Given the description of an element on the screen output the (x, y) to click on. 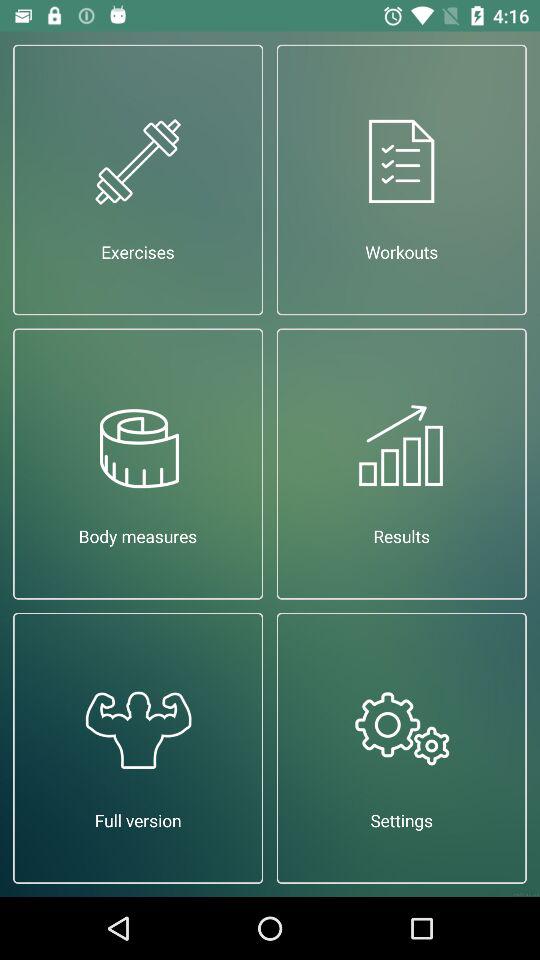
flip until workouts item (401, 179)
